Given the description of an element on the screen output the (x, y) to click on. 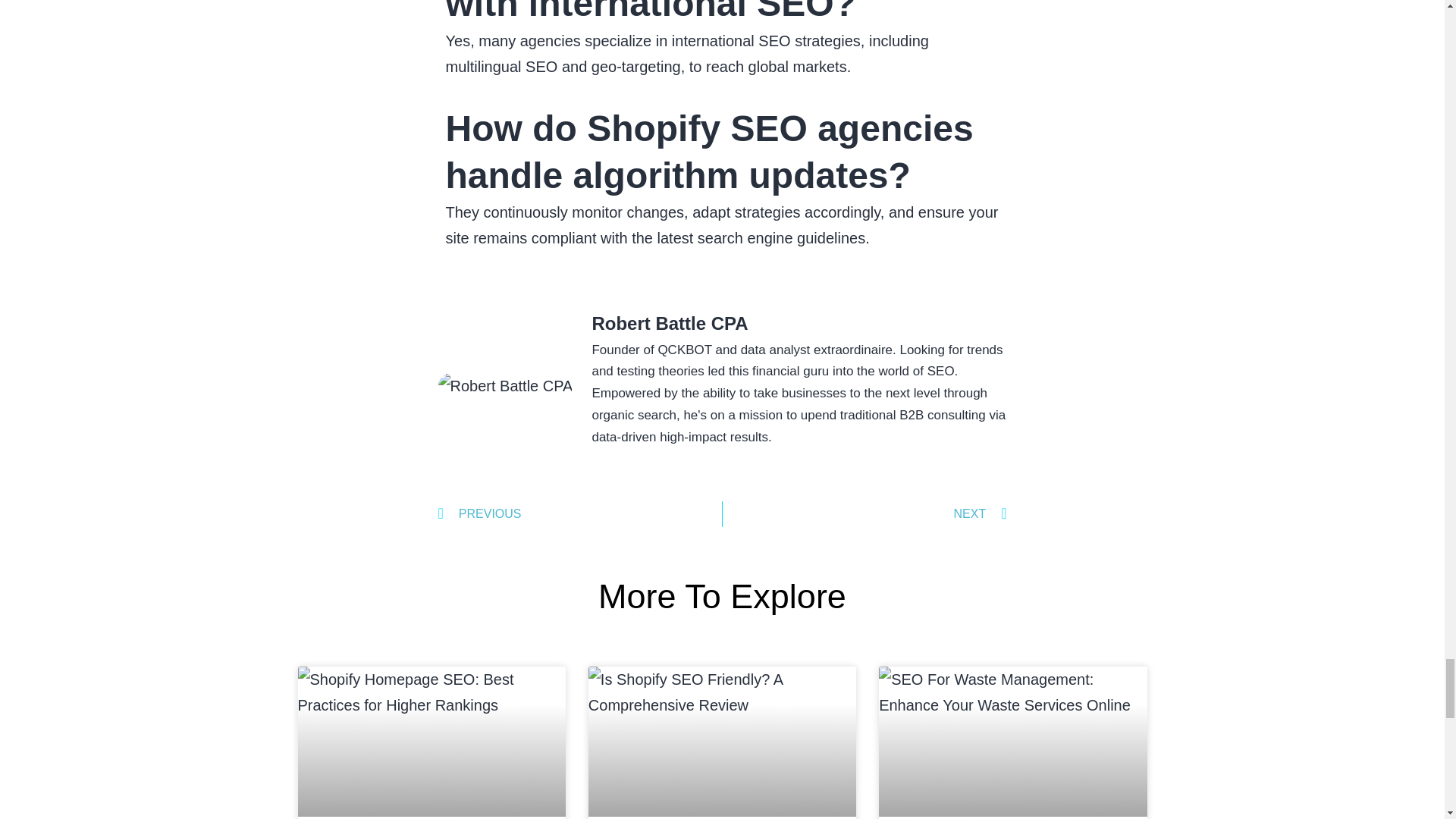
NEXT (864, 514)
Robert Battle CPA (798, 323)
PREVIOUS (580, 514)
